Given the description of an element on the screen output the (x, y) to click on. 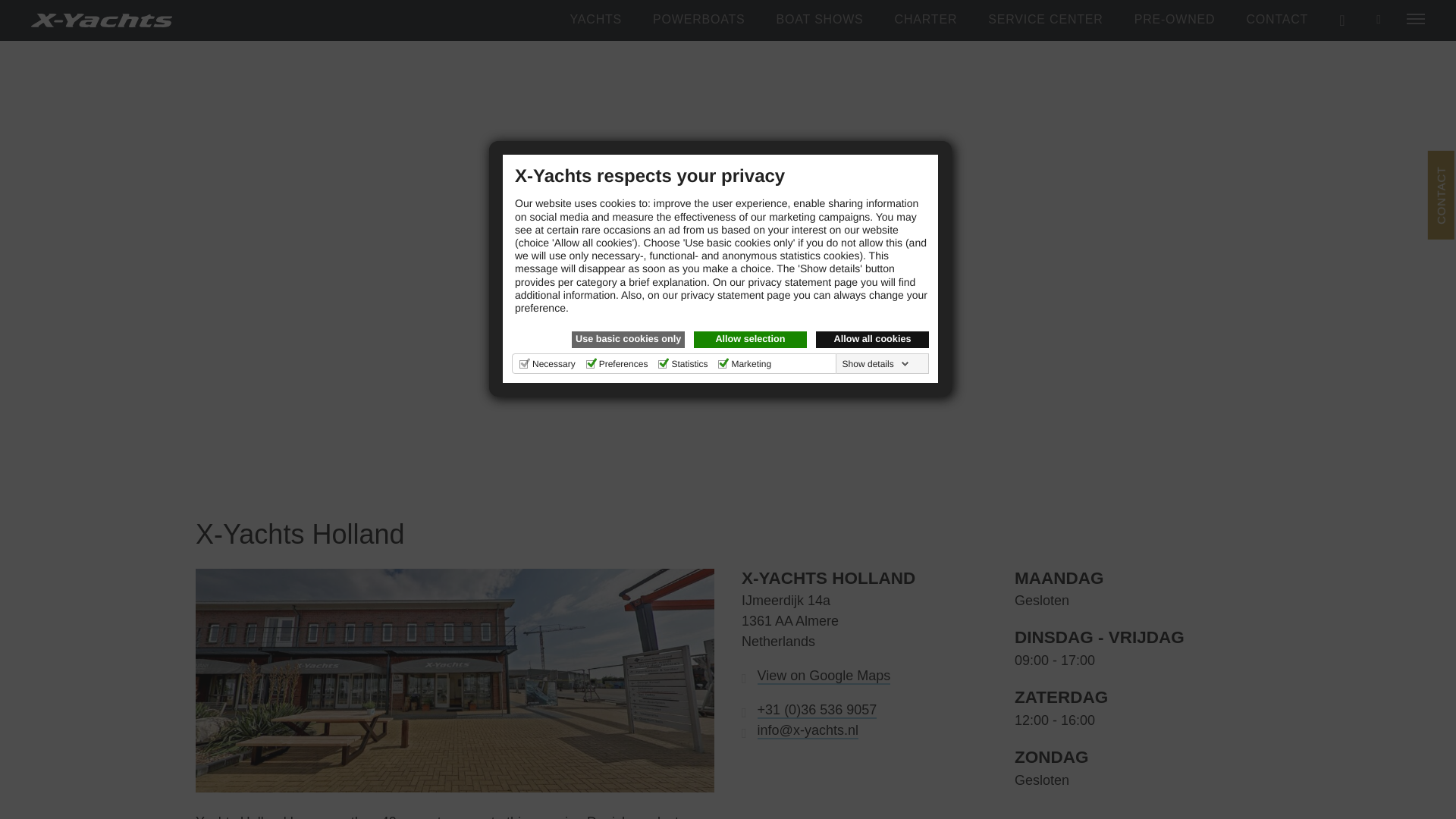
Show details (876, 363)
Allow selection (750, 339)
Allow all cookies (871, 339)
Use basic cookies only (628, 339)
